Given the description of an element on the screen output the (x, y) to click on. 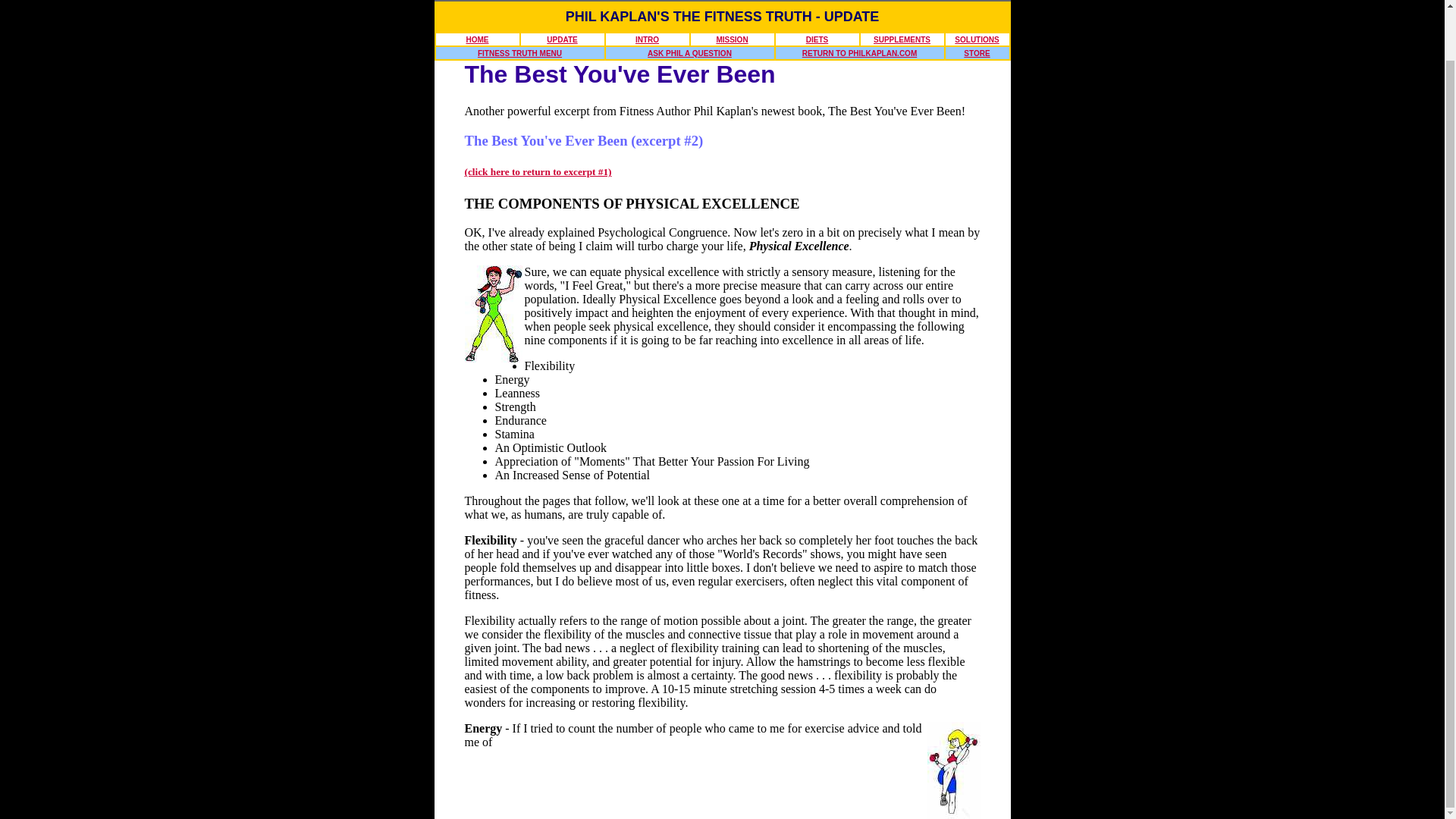
SOLUTIONS (976, 40)
INTRO (646, 40)
SUPPLEMENTS (901, 40)
FITNESS TRUTH MENU (519, 53)
UPDATE (561, 40)
HOME (476, 40)
STORE (976, 53)
DIETS (817, 40)
MISSION (732, 40)
RETURN TO PHILKAPLAN.COM (859, 53)
